Given the description of an element on the screen output the (x, y) to click on. 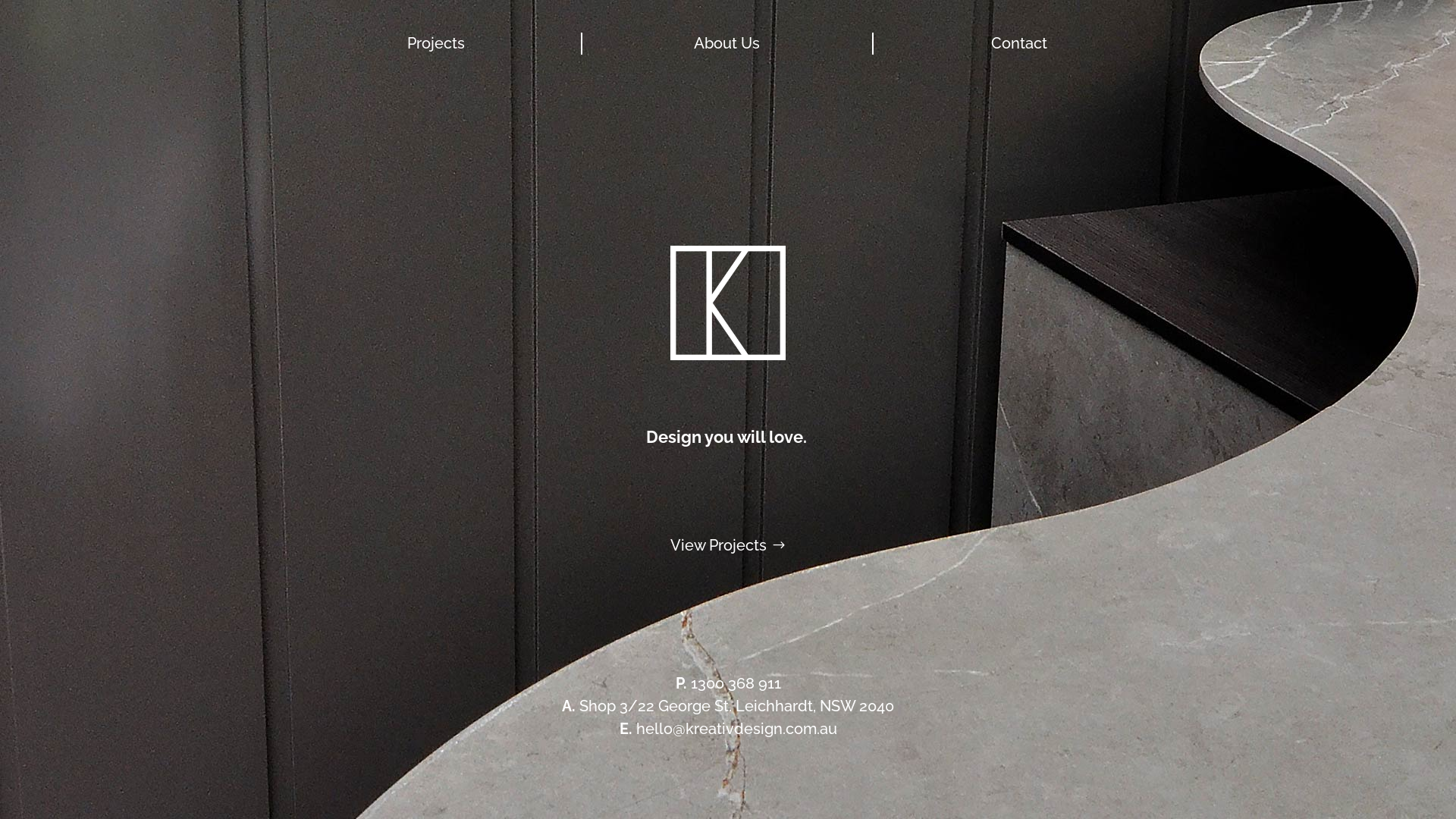
View Projects Element type: text (728, 545)
P. 1300 368 911 Element type: text (727, 683)
kreativ-design-white-icon@2x Element type: hover (727, 302)
A. Shop 3/22 George St. Leichhardt, NSW 2040 Element type: text (727, 705)
E. hello@kreativdesign.com.au Element type: text (727, 728)
